Given the description of an element on the screen output the (x, y) to click on. 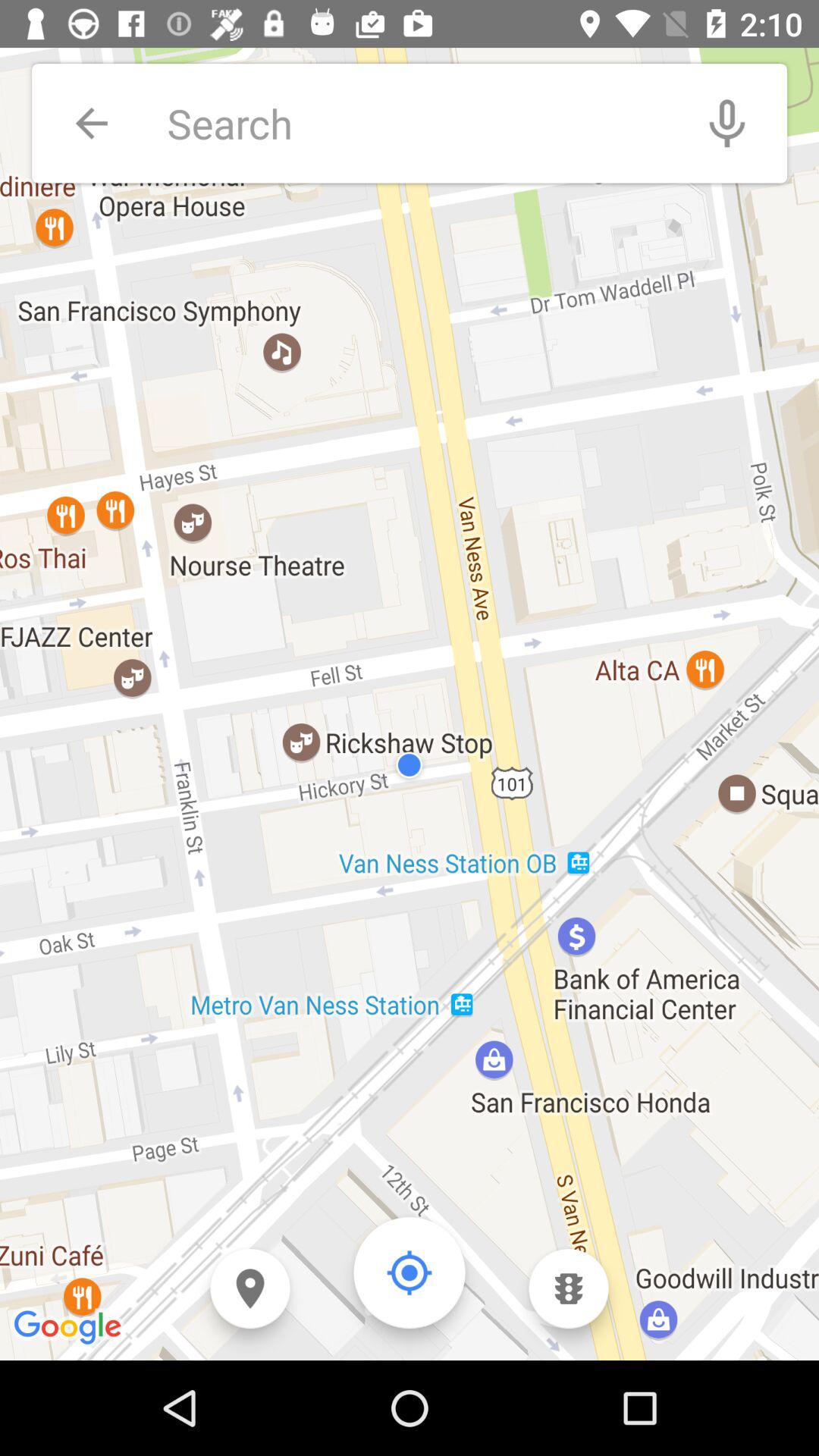
location (409, 1272)
